Given the description of an element on the screen output the (x, y) to click on. 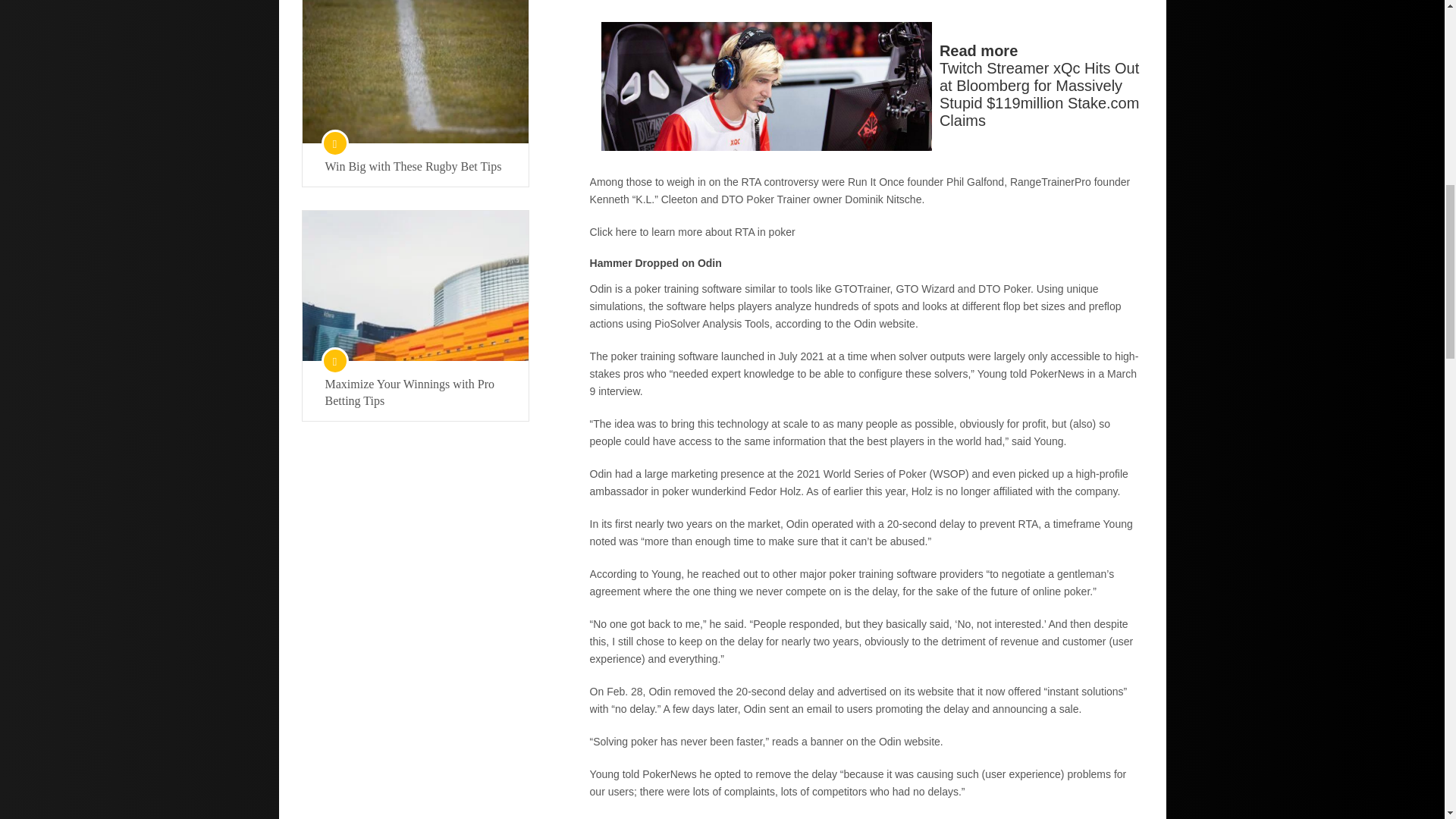
Maximize Your Winnings with Pro Betting Tips (414, 392)
Win Big with These Rugby Bet Tips (414, 166)
